Given the description of an element on the screen output the (x, y) to click on. 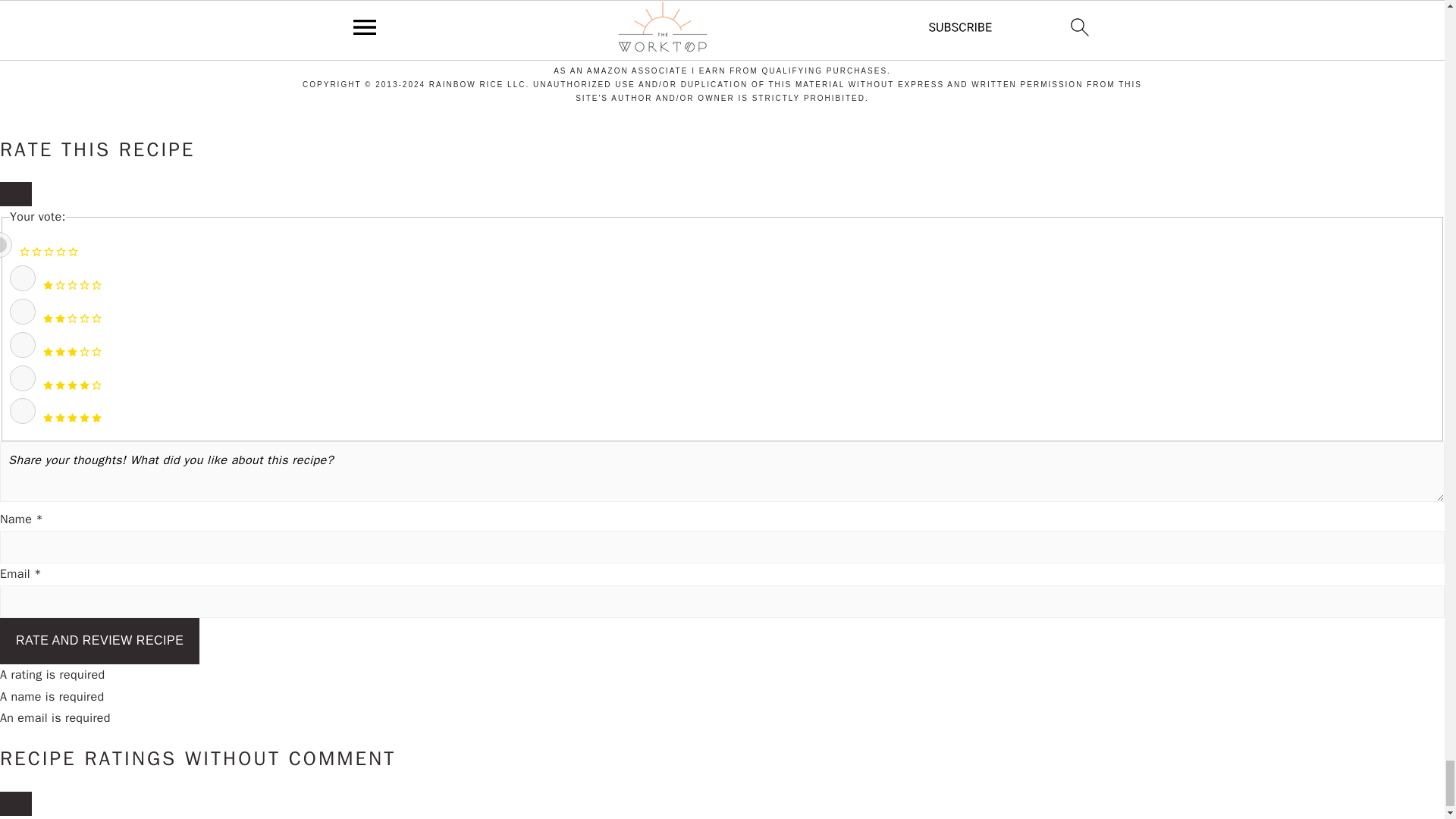
1 (22, 278)
3 (22, 344)
4 (22, 378)
2 (22, 311)
5 (22, 411)
